Given the description of an element on the screen output the (x, y) to click on. 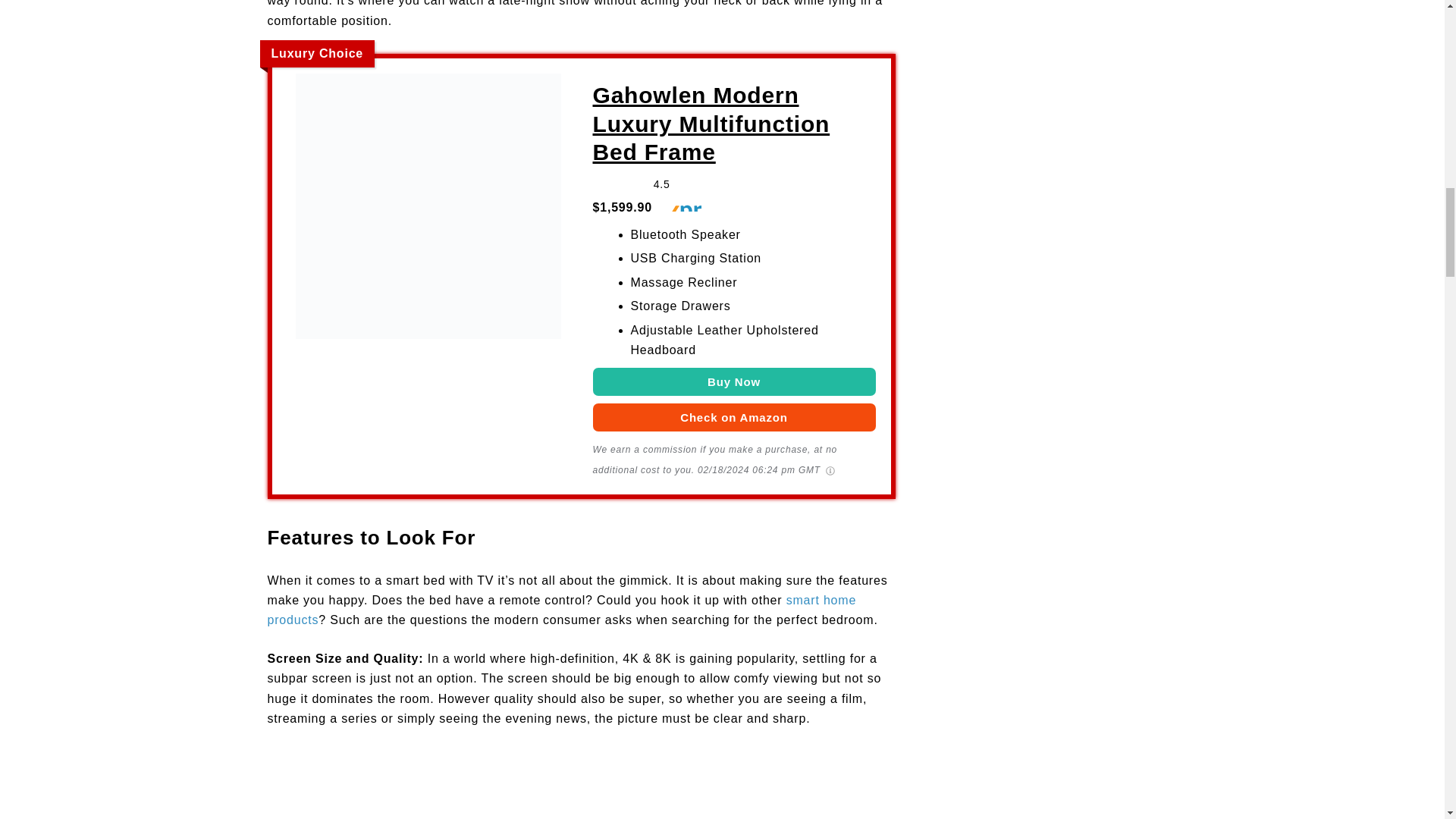
Gahowlen Modern Luxury Multifunction Bed Frame (734, 381)
Gahowlen Modern Luxury Multifunction Bed Frame (427, 212)
Gahowlen Modern Luxury Multifunction Bed Frame (734, 124)
Gahowlen Modern Luxury Multifunction Bed Frame (734, 417)
